Given the description of an element on the screen output the (x, y) to click on. 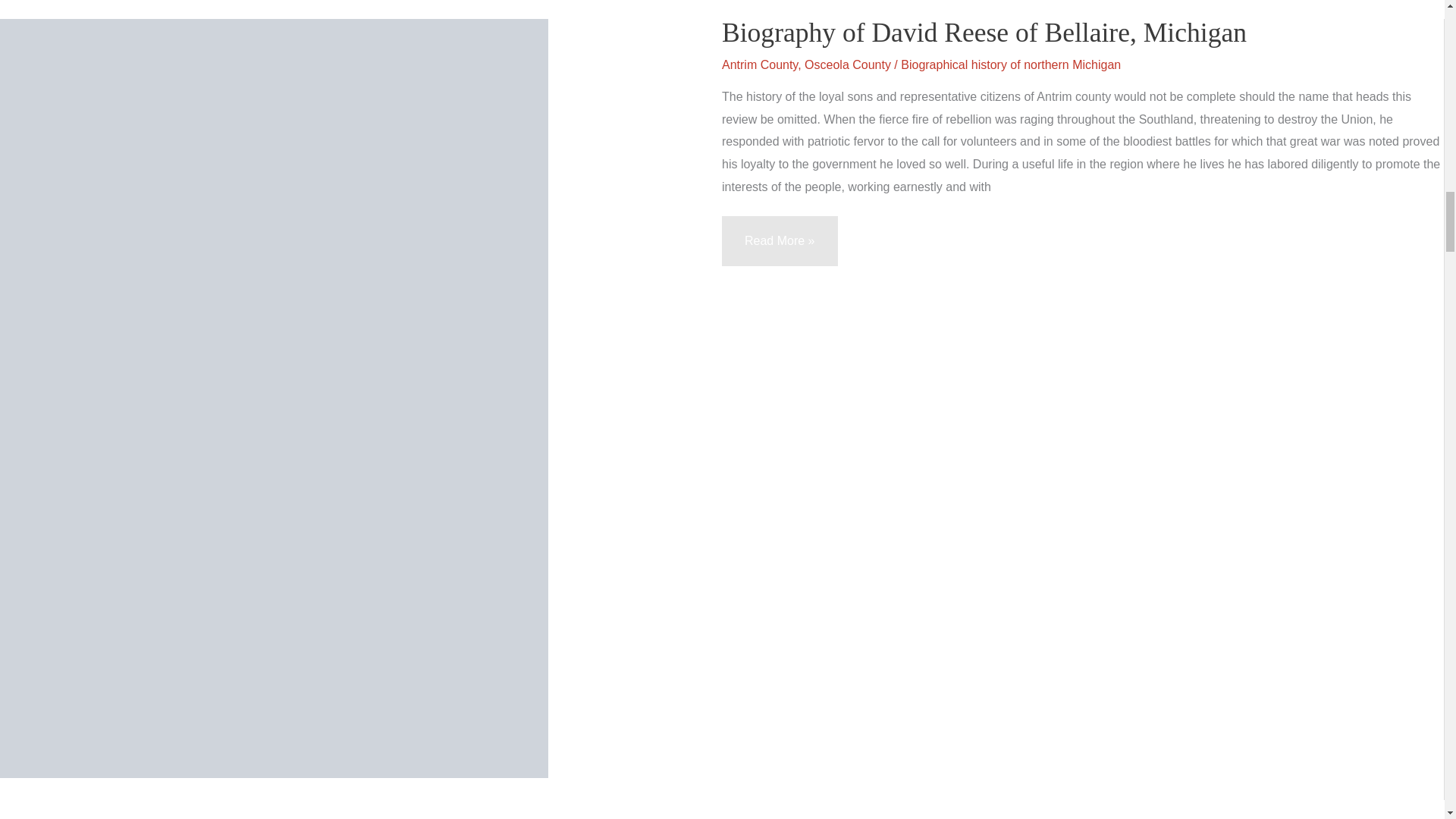
Biographical history of northern Michigan (1011, 64)
Biography of David Reese of Bellaire, Michigan (984, 32)
Antrim County (759, 64)
Osceola County (848, 64)
